Given the description of an element on the screen output the (x, y) to click on. 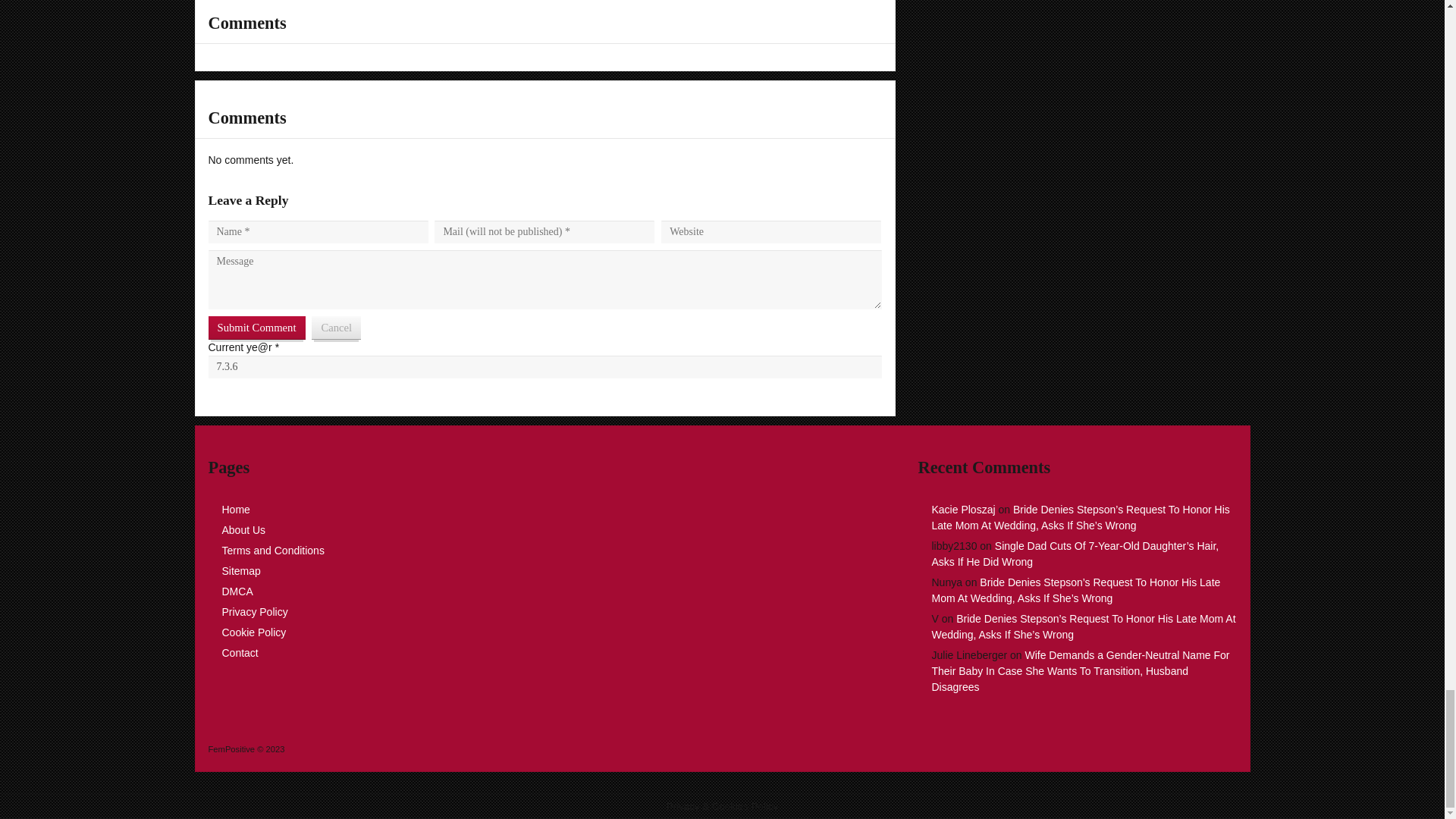
Submit Comment (256, 327)
Kacie Ploszaj (962, 509)
Terms and Conditions (272, 550)
Privacy Policy (253, 612)
7.3.6 (544, 366)
Sitemap (240, 571)
Cookie Policy (253, 632)
Home (234, 509)
Contact (239, 653)
About Us (242, 530)
Submit Comment (256, 327)
DMCA (236, 591)
Cancel (336, 327)
